Given the description of an element on the screen output the (x, y) to click on. 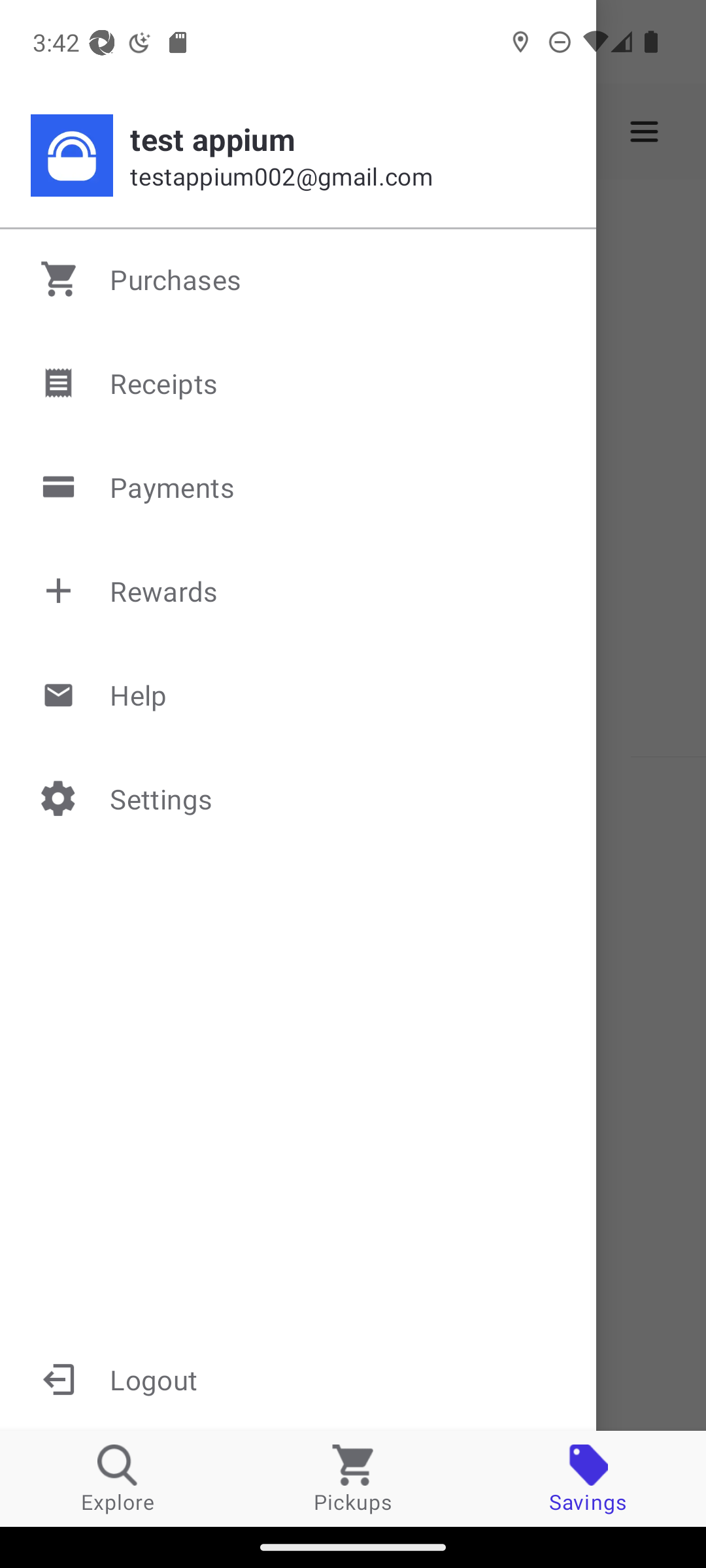
Purchases (299, 278)
Receipts (299, 382)
Payments (299, 487)
Rewards (299, 590)
Help (299, 694)
Settings (299, 797)
Logout (297, 1379)
Explore (117, 1478)
Pickups (352, 1478)
